Given the description of an element on the screen output the (x, y) to click on. 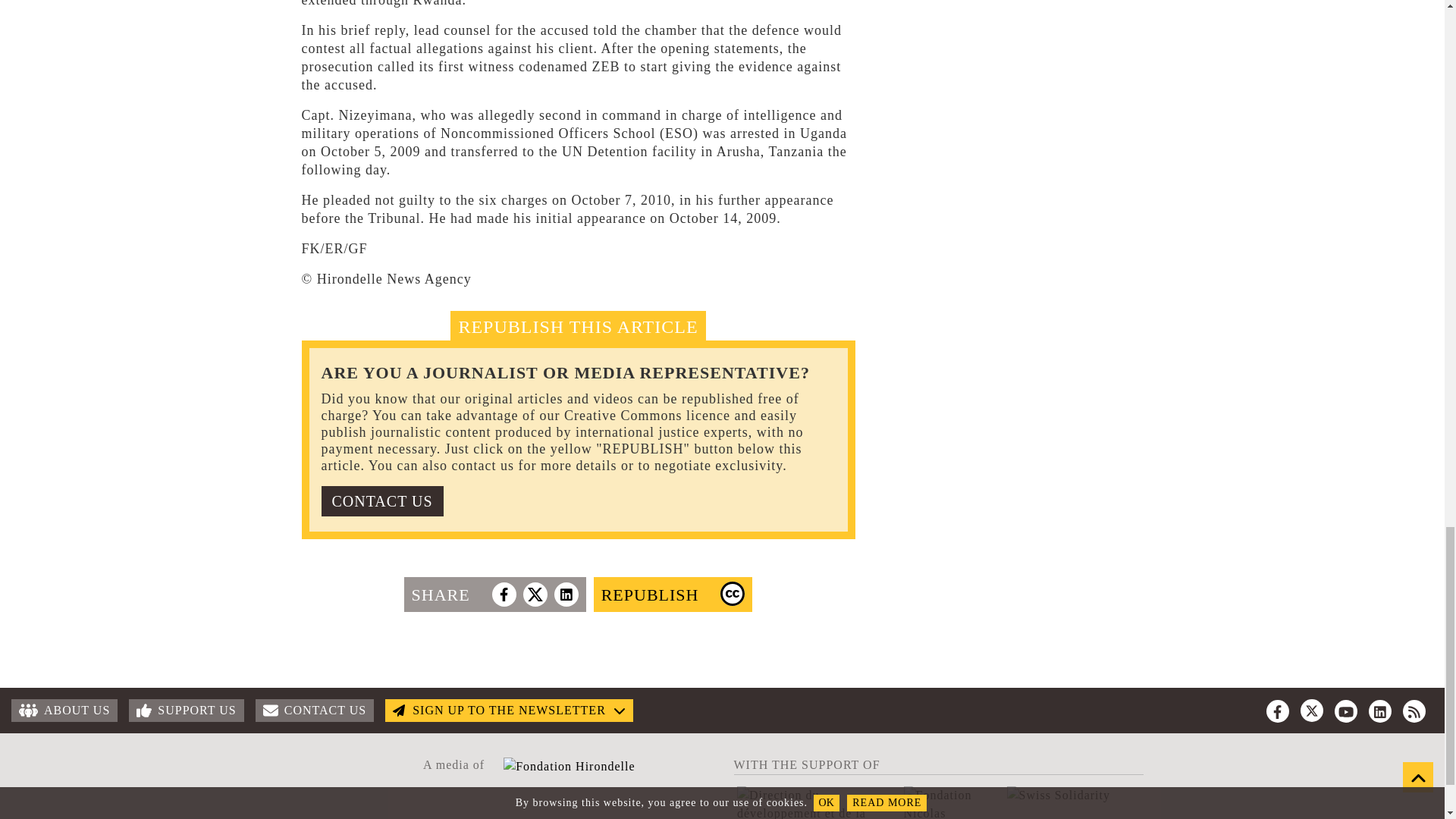
Twitter (1311, 710)
LinkedIn (1379, 711)
Facebook (1277, 711)
RSS (1414, 711)
Youtube (1345, 711)
